Given the description of an element on the screen output the (x, y) to click on. 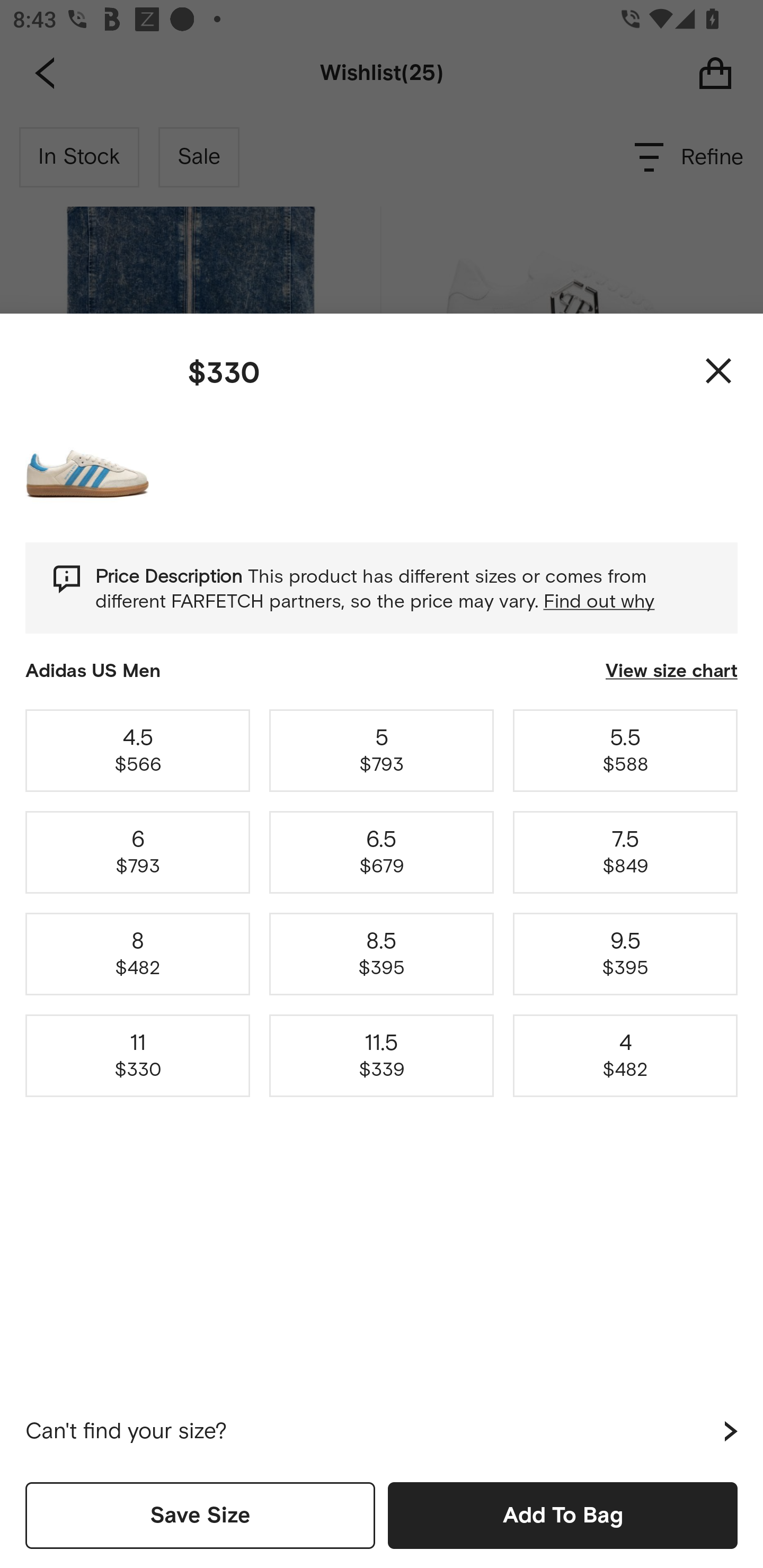
4.5 $566 (137, 749)
5 $793 (381, 749)
5.5 $588 (624, 749)
6 $793 (137, 851)
6.5 $679 (381, 851)
7.5 $849 (624, 851)
8 $482 (137, 953)
8.5 $395 (381, 953)
9.5 $395 (624, 953)
11 $330 (137, 1055)
11.5 $339 (381, 1055)
4 $482 (624, 1055)
Can't find your size? (381, 1431)
Save Size (200, 1515)
Add To Bag (562, 1515)
